Given the description of an element on the screen output the (x, y) to click on. 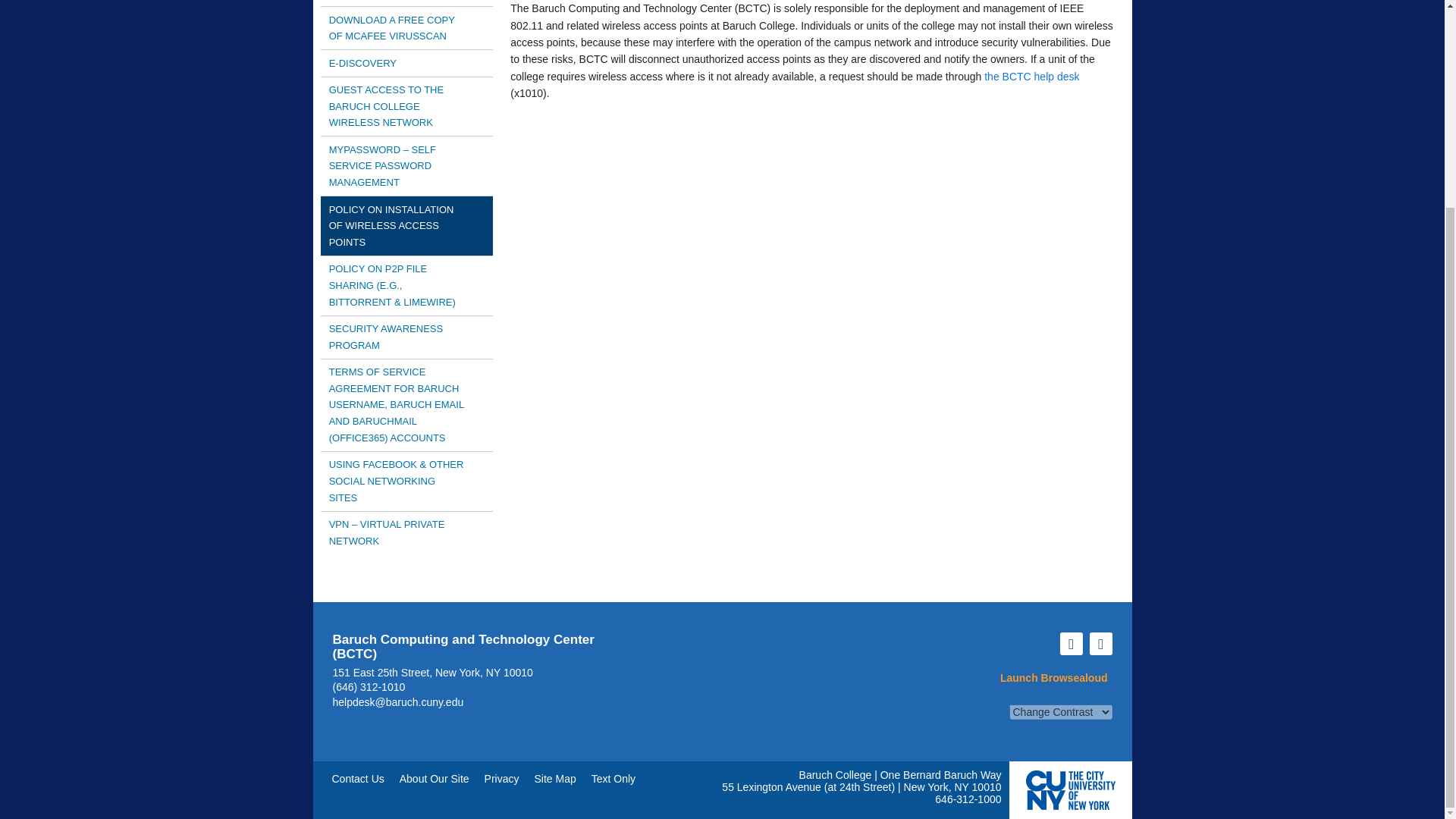
CUNY POLICY ON ACCEPTABLE USE OF COMPUTER RESOURCES (406, 2)
